Given the description of an element on the screen output the (x, y) to click on. 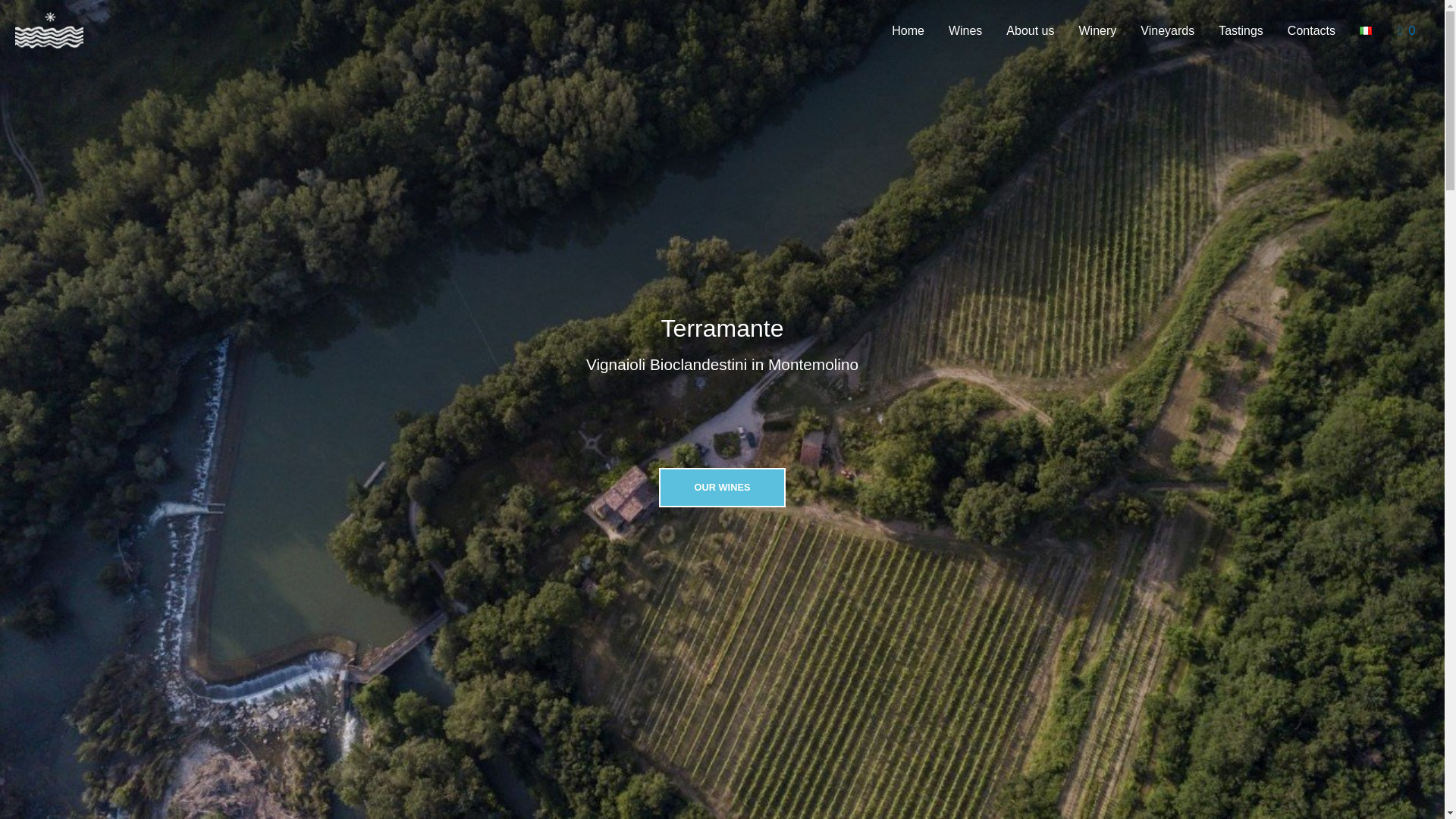
Home (907, 30)
Contacts (1311, 30)
OUR WINES (722, 486)
Winery (1098, 30)
Vineyards (1167, 30)
Wines (965, 30)
Tastings (1241, 30)
0 (1406, 30)
View your shopping cart (1406, 30)
About us (1029, 30)
